Given the description of an element on the screen output the (x, y) to click on. 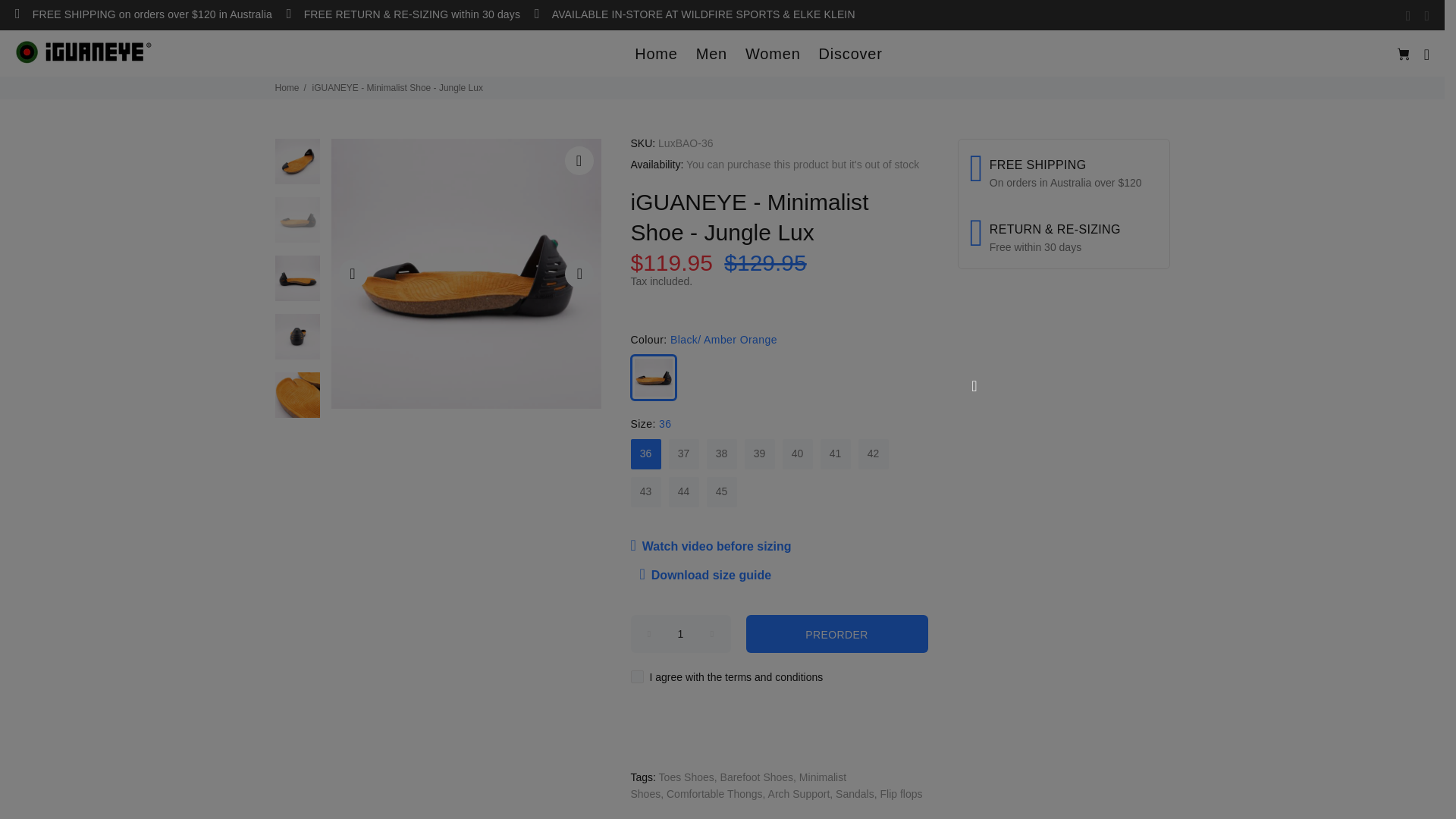
Discover Element type: text (845, 53)
Previous Element type: text (352, 273)
37 Element type: text (683, 454)
Comfortable Thongs Element type: text (714, 793)
FREE SHIPPING
On orders in Australia over $120 Element type: text (1063, 179)
45 Element type: text (721, 491)
Flip flops Element type: text (900, 793)
Next Element type: text (578, 273)
Men Element type: text (711, 53)
44 Element type: text (683, 491)
Sandals Element type: text (854, 793)
39 Element type: text (759, 454)
43 Element type: text (645, 491)
Women Element type: text (772, 53)
Home Element type: text (656, 53)
Barefoot Shoes Element type: text (756, 777)
42 Element type: text (873, 454)
Toes Shoes Element type: text (686, 777)
Arch Support Element type: text (799, 793)
36 Element type: text (645, 454)
Watch video before sizing Element type: text (715, 546)
Home Element type: text (286, 87)
RETURN & RE-SIZING
Free within 30 days Element type: text (1063, 230)
Download size guide Element type: text (705, 575)
40 Element type: text (797, 454)
41 Element type: text (835, 454)
38 Element type: text (721, 454)
Minimalist Shoes Element type: text (738, 785)
PREORDER Element type: text (837, 633)
